Given the description of an element on the screen output the (x, y) to click on. 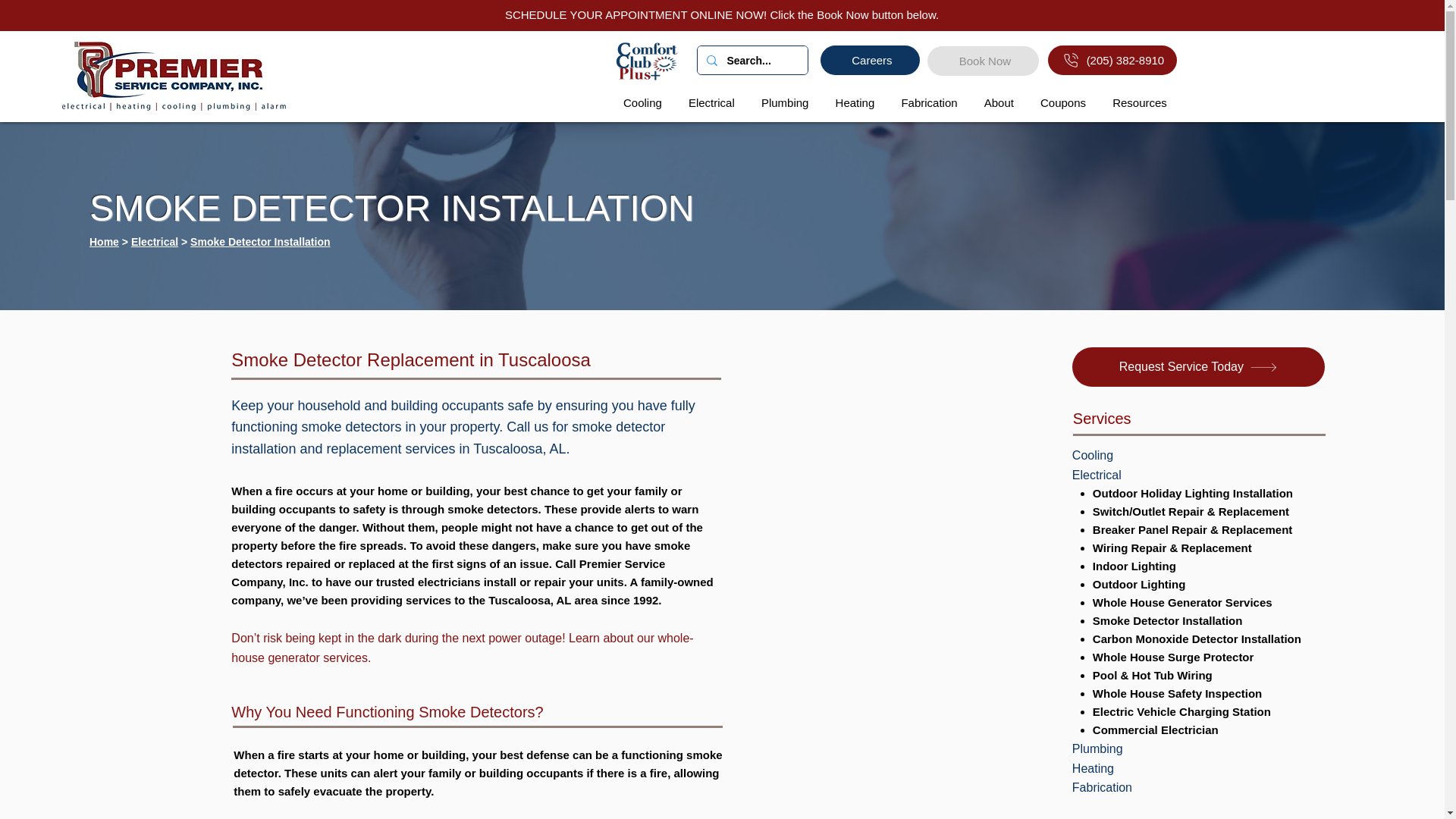
Plumbing (784, 102)
Careers (870, 60)
Cooling (641, 102)
Electrical (711, 102)
Book Now (983, 60)
